Given the description of an element on the screen output the (x, y) to click on. 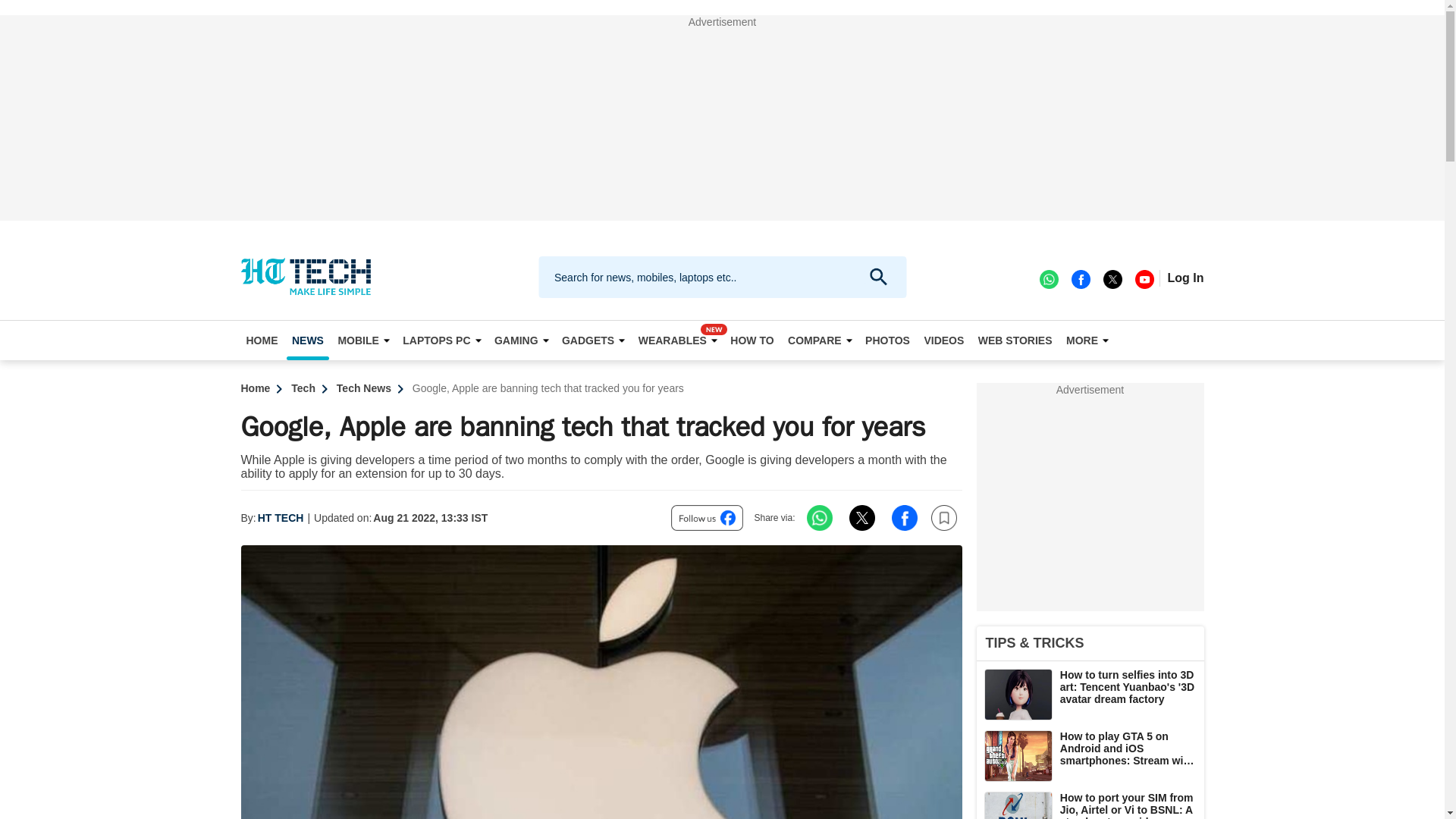
HOW TO (751, 340)
facebook (1079, 278)
LAPTOPS PC (440, 340)
GADGETS (592, 340)
twitter (1111, 278)
GAMING (521, 340)
MOBILE (362, 340)
NEWS (307, 340)
Login (1185, 277)
youtube (1143, 278)
HOME (262, 340)
Get to know more about News from India and around the world. (307, 340)
